Given the description of an element on the screen output the (x, y) to click on. 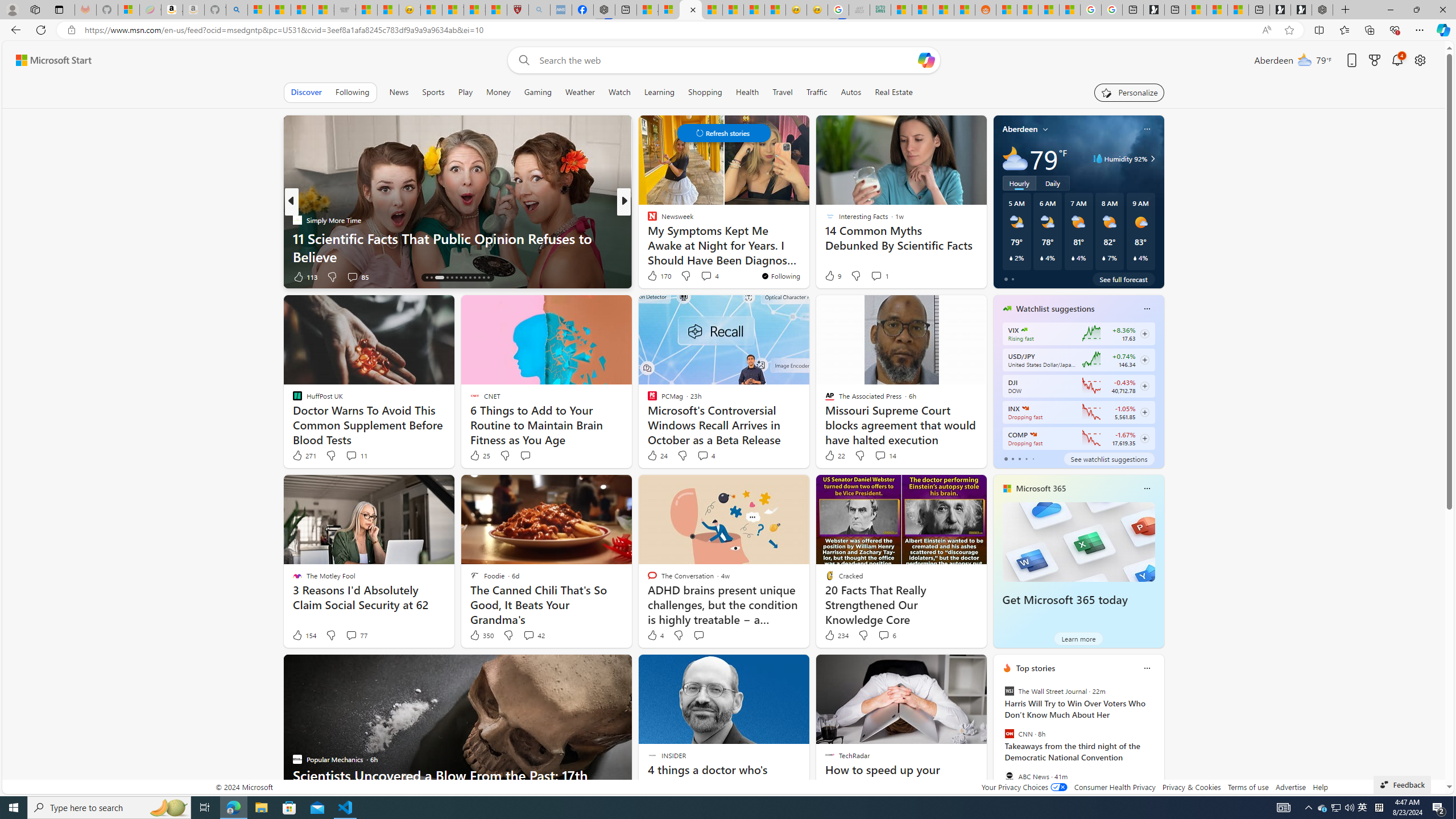
AutomationID: tab-26 (488, 277)
The Wall Street Journal (1008, 691)
R******* | Trusted Community Engagement and Contributions (1006, 9)
170 Like (658, 275)
Top stories (1035, 668)
Daily (1052, 183)
Kinda Frugal (647, 238)
CBOE Market Volatility Index (1023, 329)
View comments 42 Comment (533, 634)
